Given the description of an element on the screen output the (x, y) to click on. 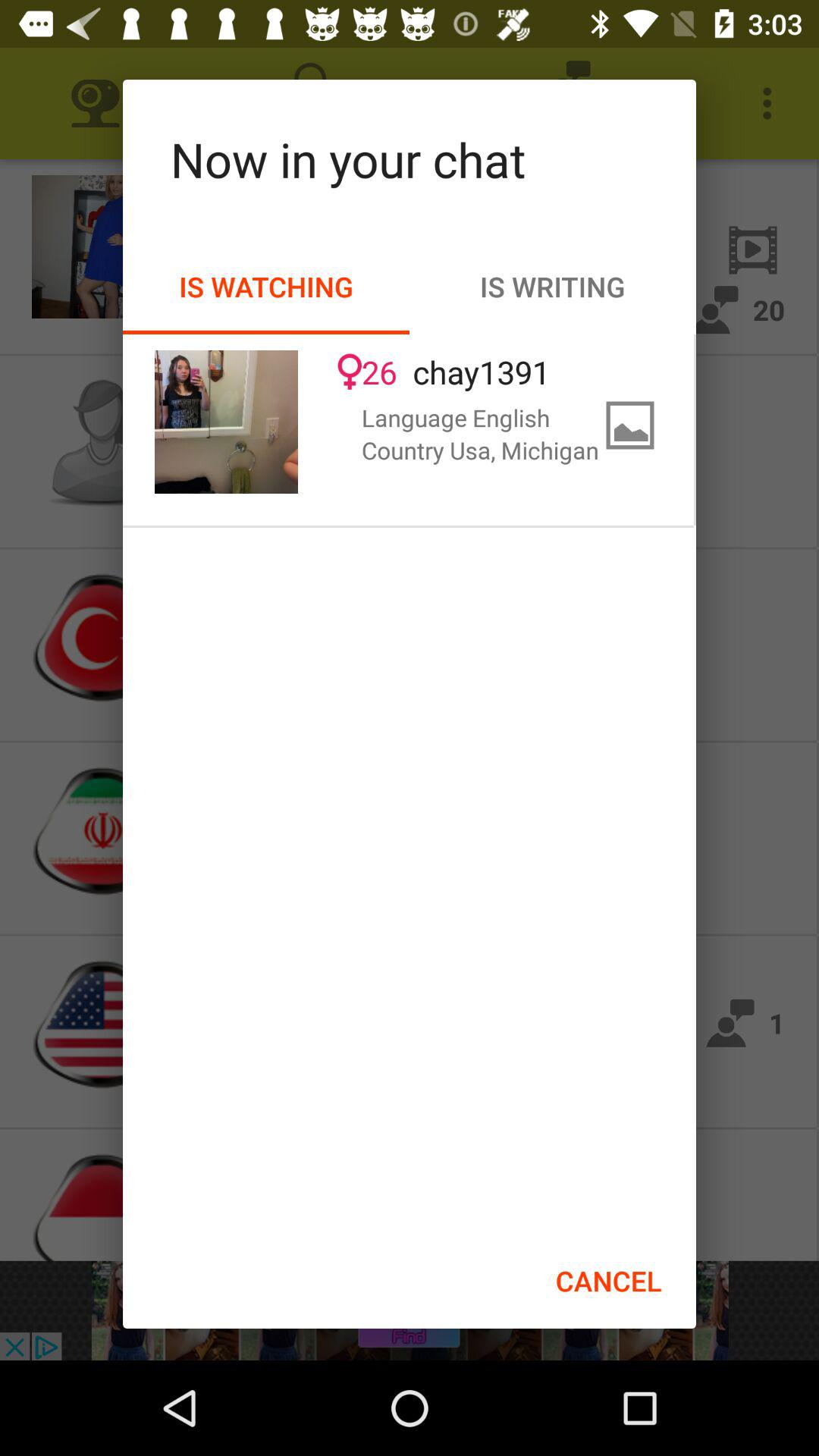
choose the icon next to the 26 item (226, 421)
